Given the description of an element on the screen output the (x, y) to click on. 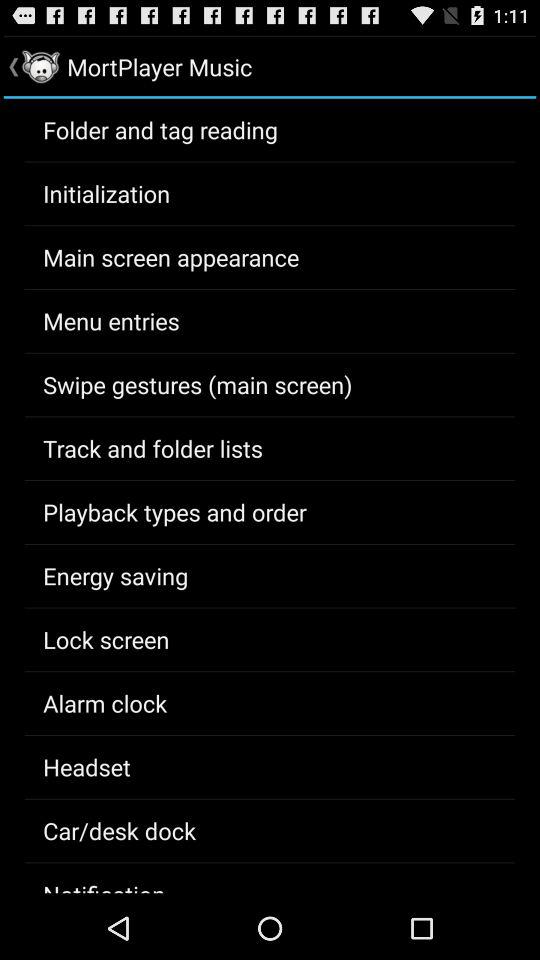
open the app above the car/desk dock app (86, 767)
